Given the description of an element on the screen output the (x, y) to click on. 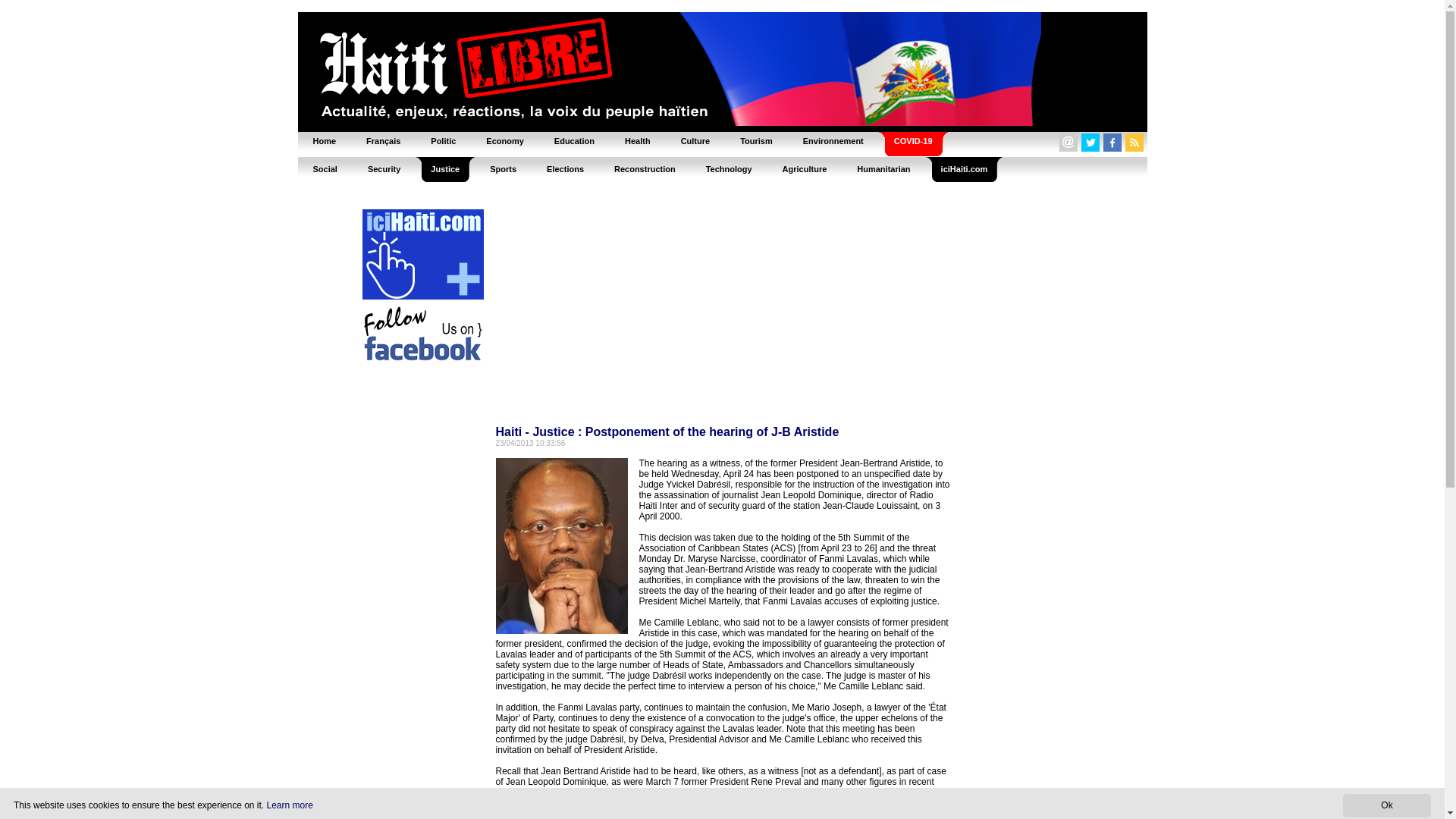
COVID-19 (913, 141)
Economy (504, 141)
Agriculture (805, 168)
Reconstruction (644, 168)
Reconstruction (644, 168)
Health (637, 141)
Elections (564, 168)
Home (323, 141)
Politic (442, 141)
Environnement (833, 141)
